Given the description of an element on the screen output the (x, y) to click on. 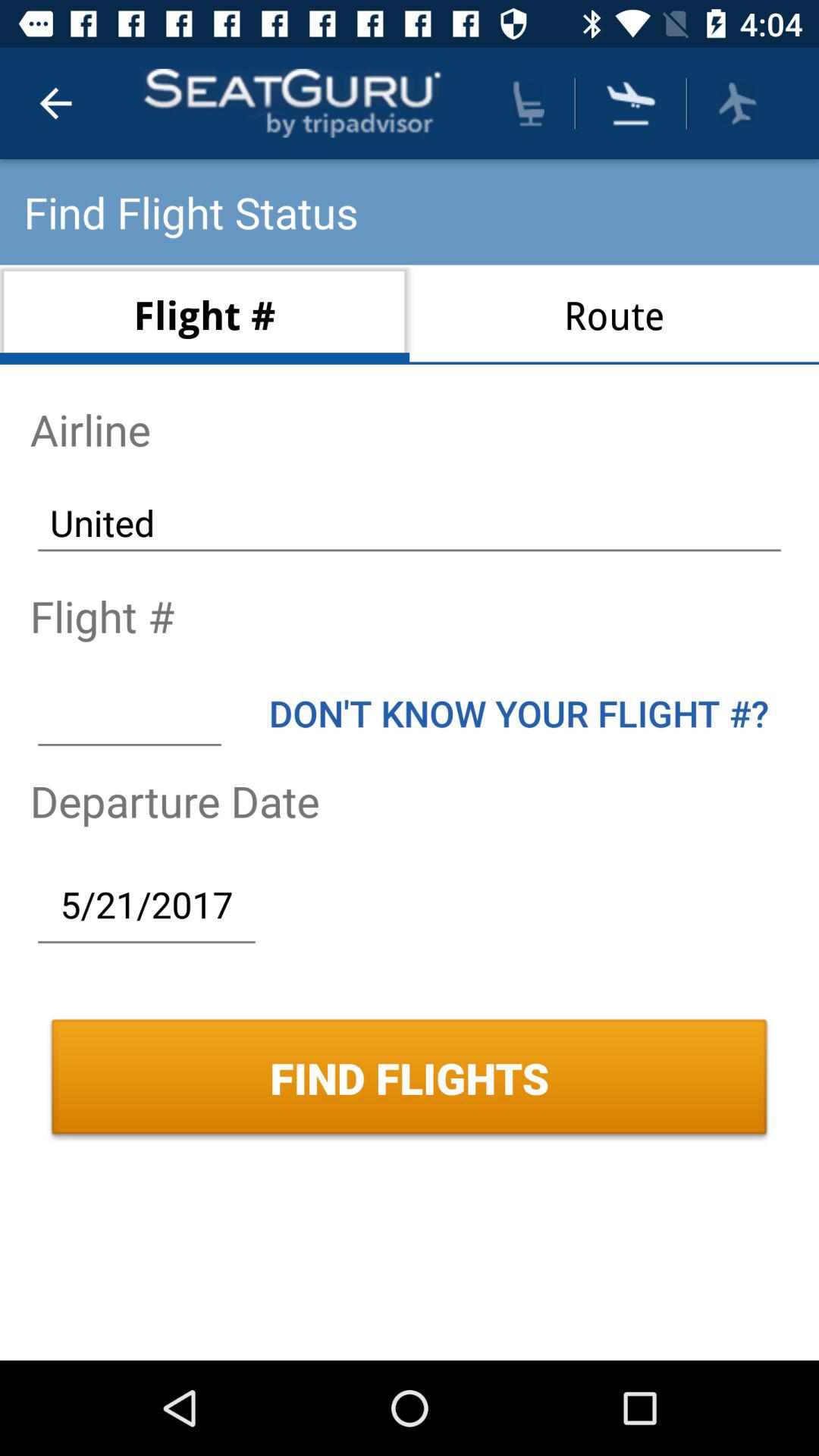
check arrival time (630, 103)
